Given the description of an element on the screen output the (x, y) to click on. 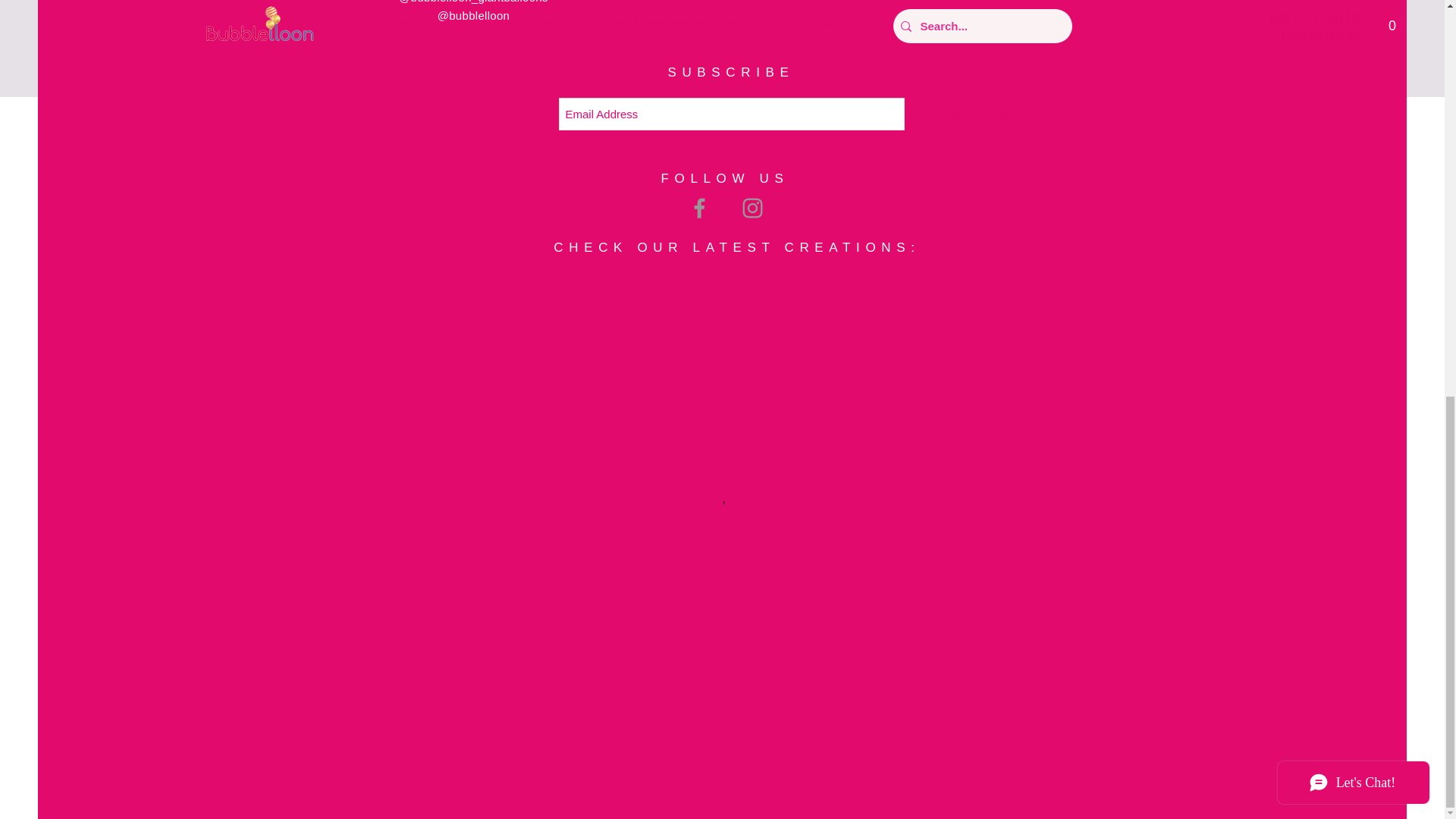
Subscribe Now (969, 113)
